Given the description of an element on the screen output the (x, y) to click on. 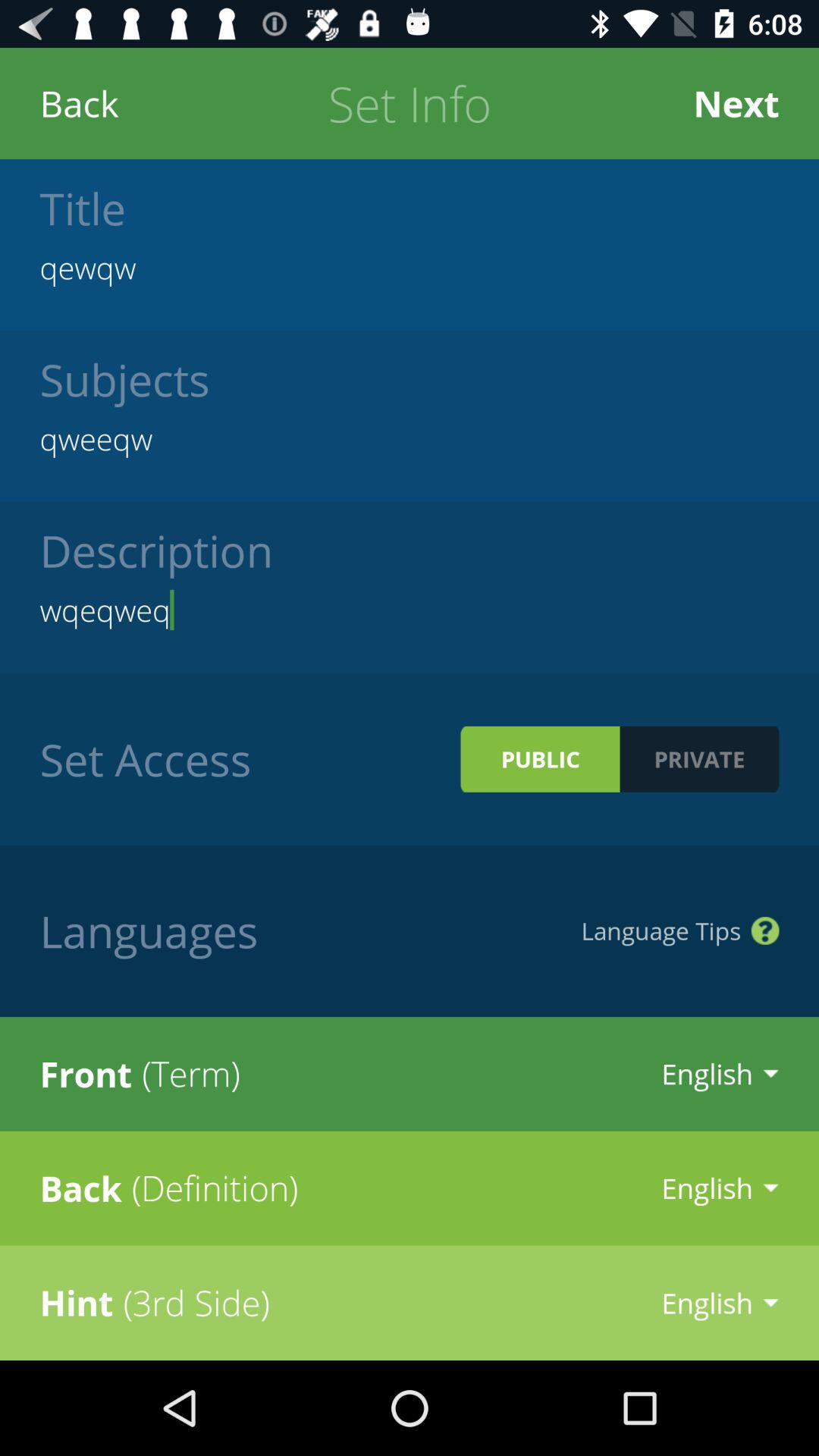
press private (699, 759)
